Given the description of an element on the screen output the (x, y) to click on. 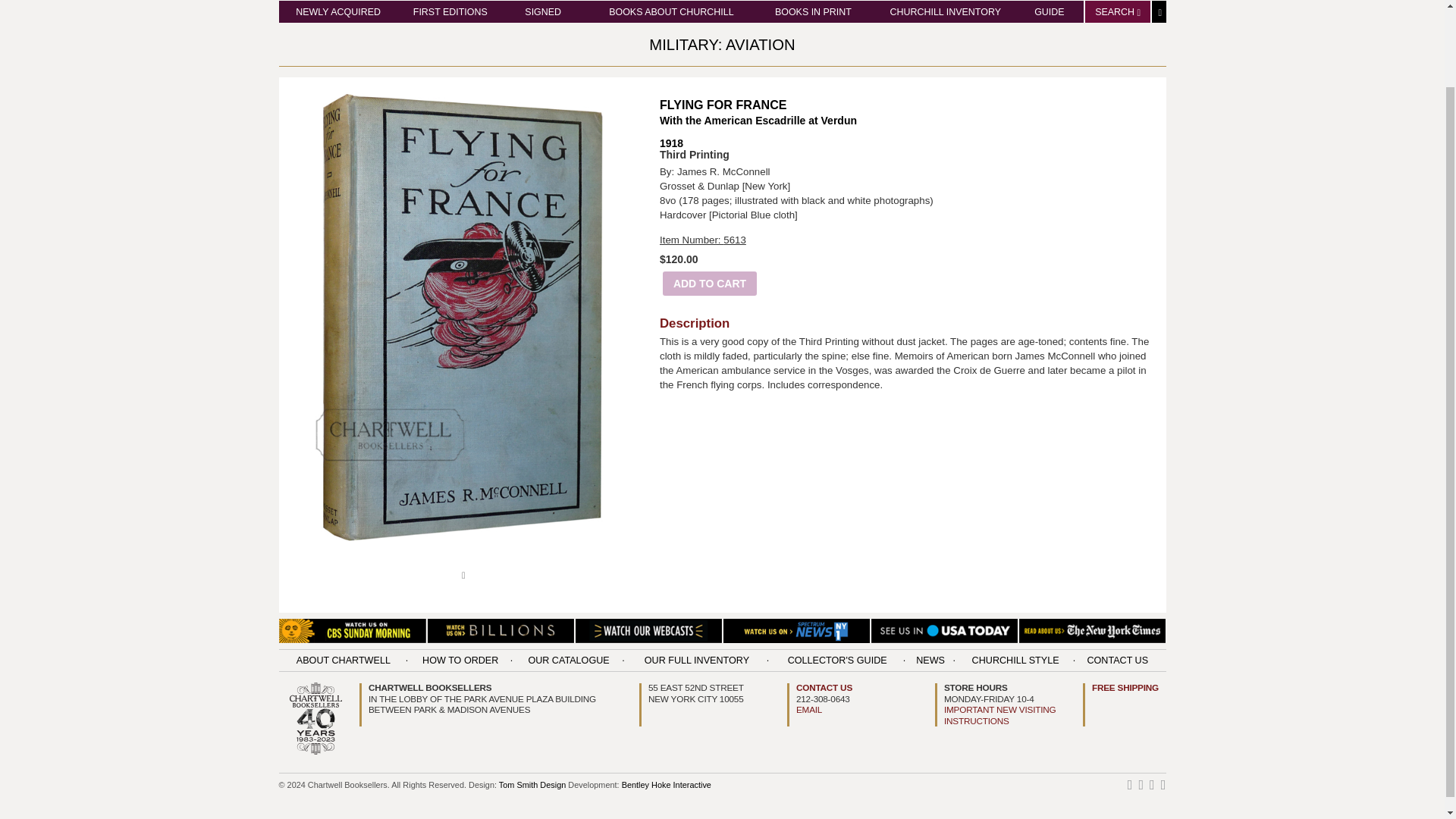
SIGNED (542, 11)
NEWLY ACQUIRED (337, 11)
SEARCH (1117, 11)
GUIDE (1048, 11)
BOOKS IN PRINT (812, 11)
MILITARY: AVIATION (721, 44)
ADD TO CART (709, 282)
FIRST EDITIONS (450, 11)
BOOKS ABOUT CHURCHILL (670, 11)
CHURCHILL INVENTORY (944, 11)
